Given the description of an element on the screen output the (x, y) to click on. 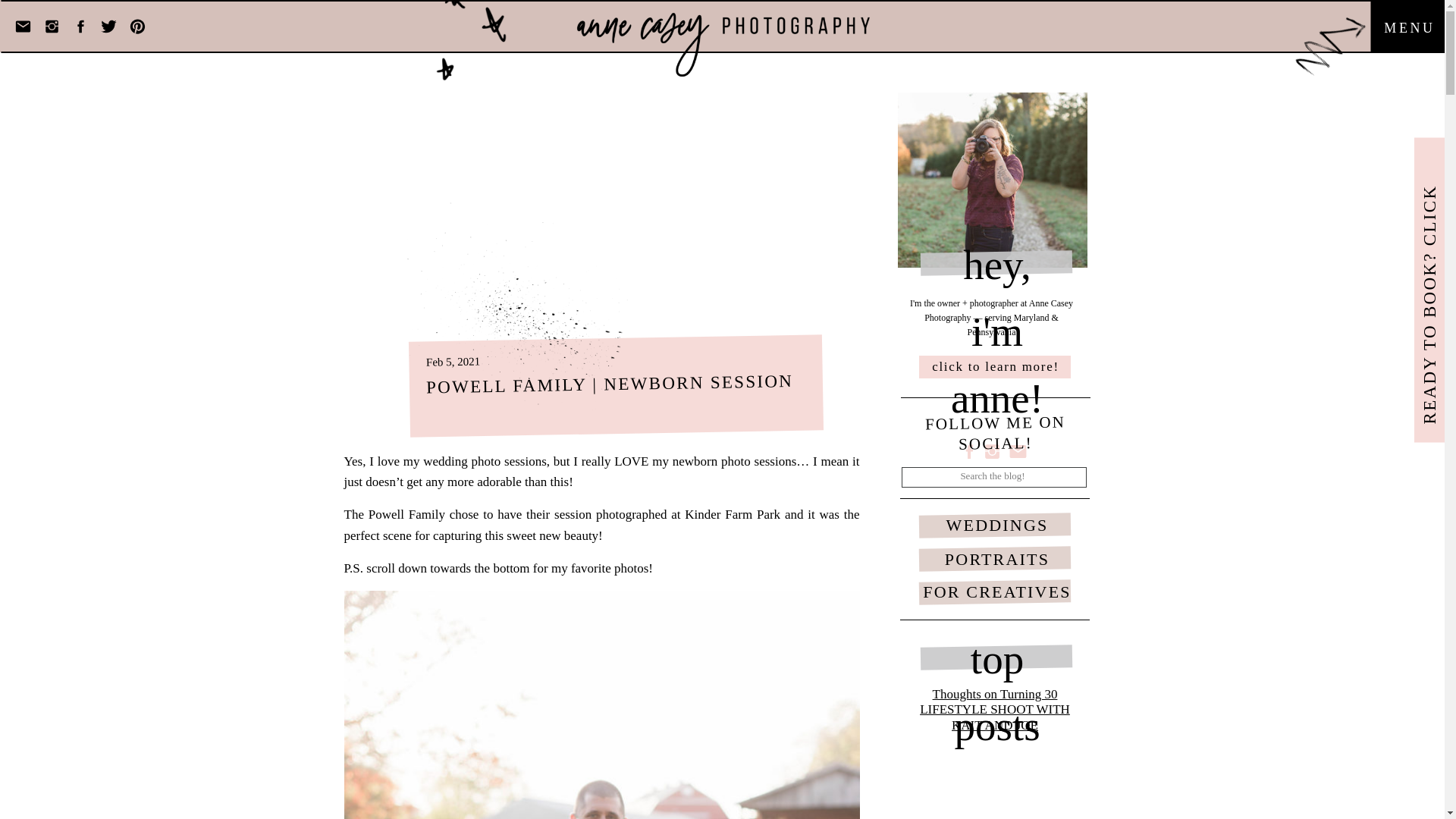
LIFESTYLE SHOOT WITH KAIT AND JOE (995, 716)
for creatives (979, 761)
contact (1126, 761)
the ac workshop (1044, 761)
weddings (886, 761)
meet anne (838, 761)
portraits (931, 761)
Thoughts on Turning 30 (995, 694)
blog (1093, 761)
top posts (997, 657)
